Given the description of an element on the screen output the (x, y) to click on. 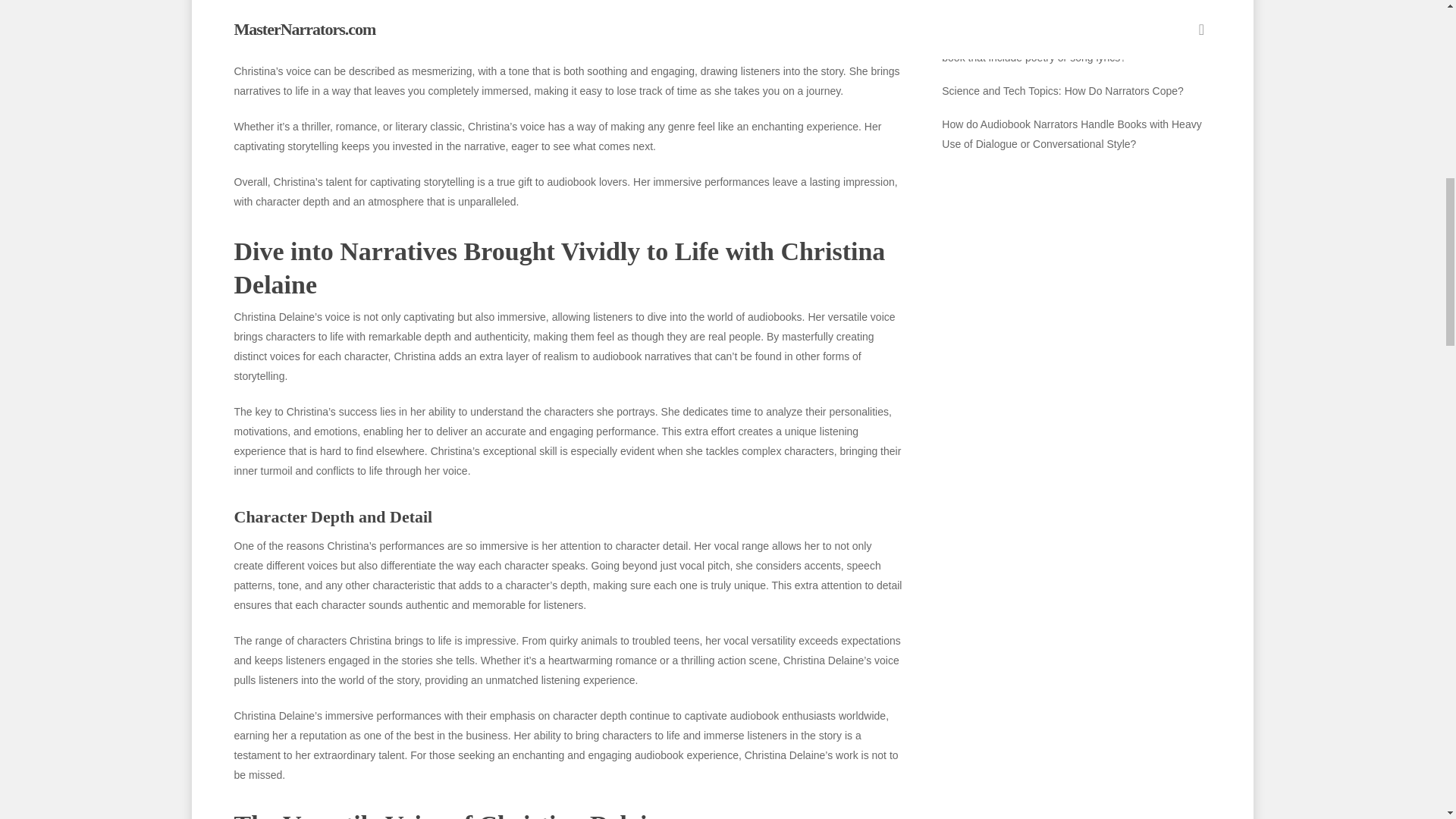
Science and Tech Topics: How Do Narrators Cope? (1075, 90)
